Given the description of an element on the screen output the (x, y) to click on. 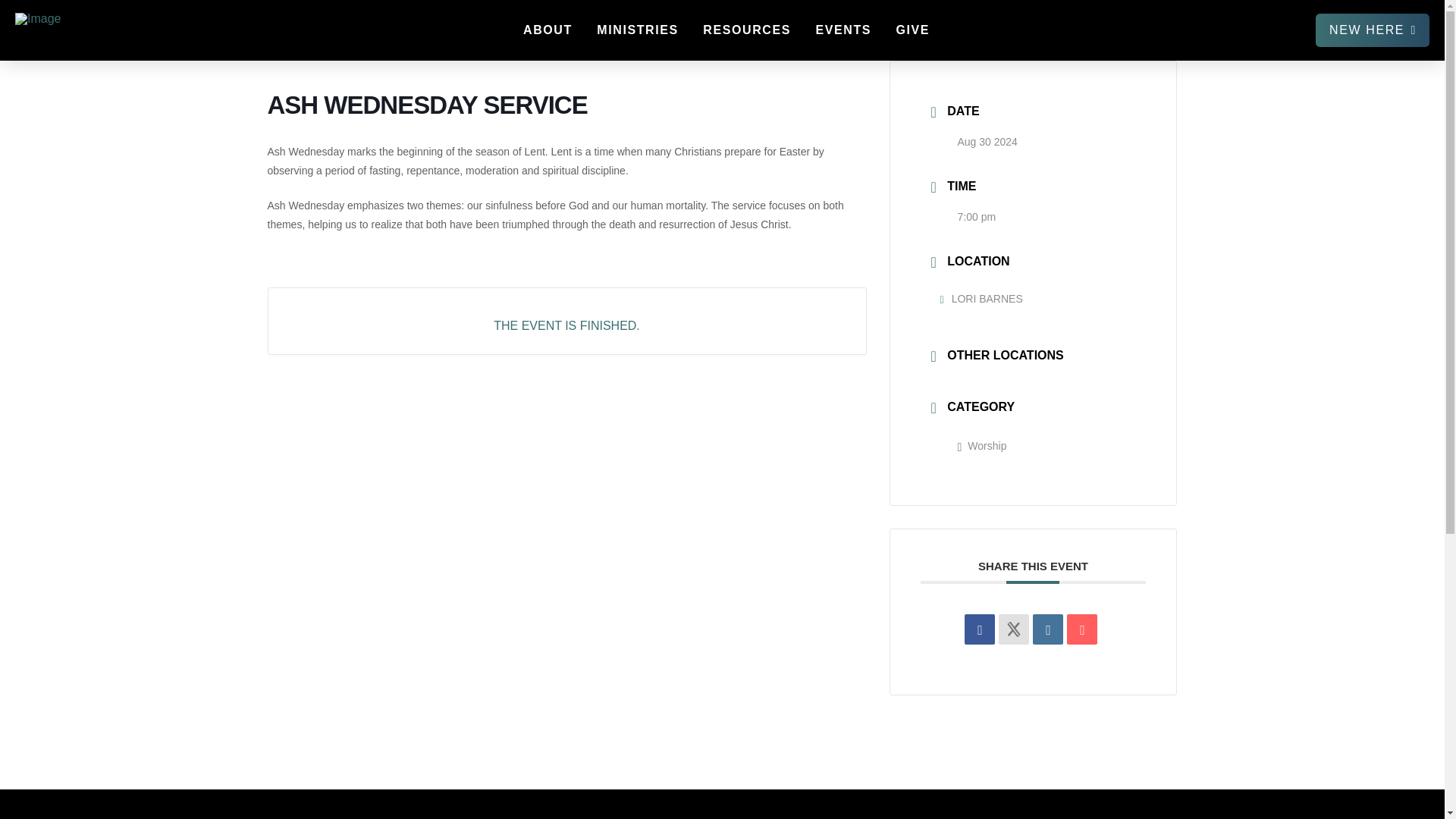
Email (1082, 629)
RESOURCES (746, 30)
ABOUT (547, 30)
NEW HERE (1372, 29)
GIVE (911, 30)
MINISTRIES (636, 30)
X Social Network (1013, 629)
EVENTS (842, 30)
Worship (981, 445)
Linkedin (1047, 629)
